Given the description of an element on the screen output the (x, y) to click on. 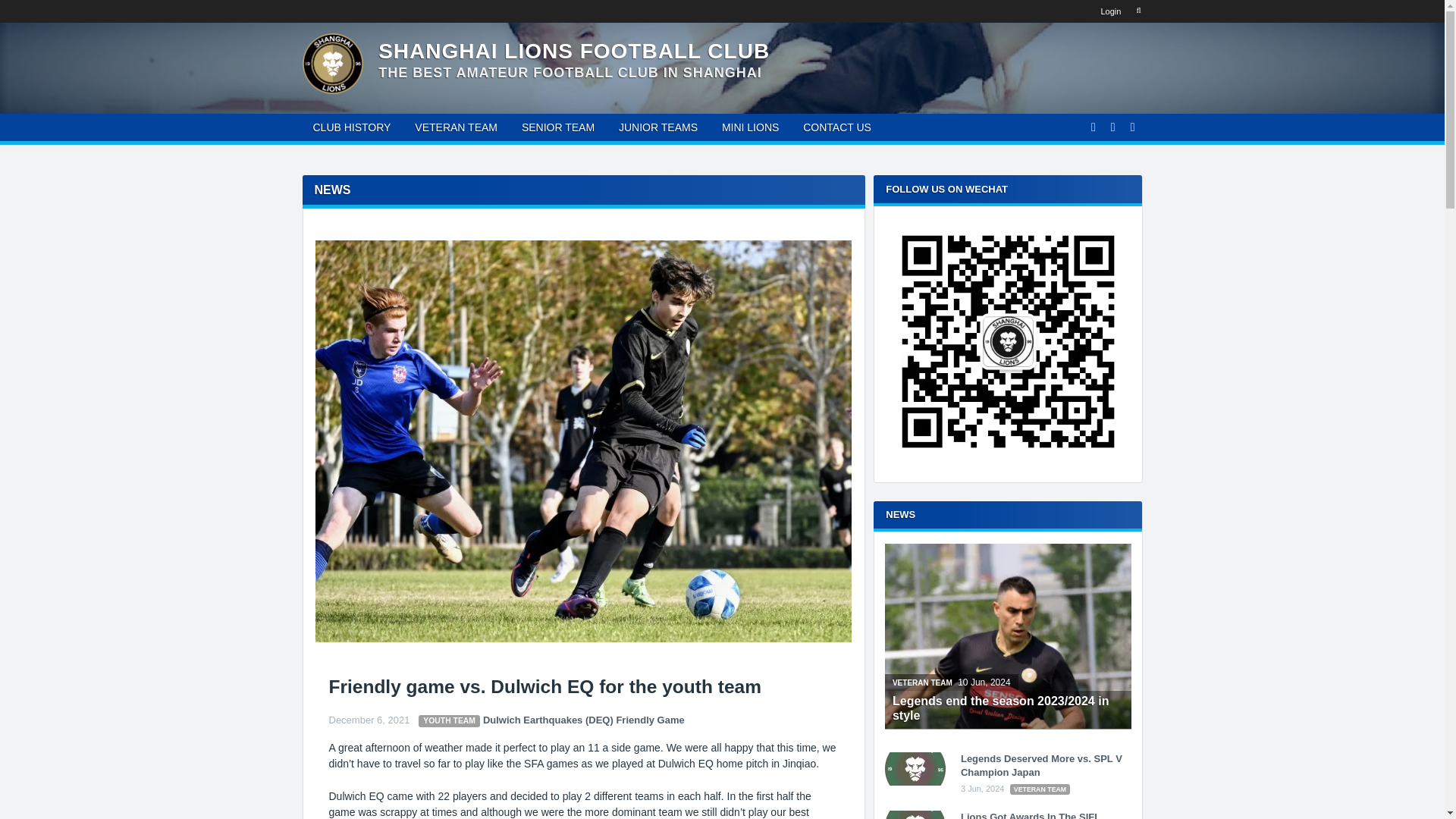
VETERAN TEAM (456, 126)
Friendly Game (649, 719)
MINI LIONS (750, 126)
CLUB HISTORY (351, 126)
SENIOR TEAM (558, 126)
CONTACT US (837, 126)
SHANGHAI LIONS FOOTBALL CLUB (574, 51)
JUNIOR TEAMS (657, 126)
YOUTH TEAM (449, 721)
Login (1110, 10)
Shanghai Lions Football Club (574, 51)
